Given the description of an element on the screen output the (x, y) to click on. 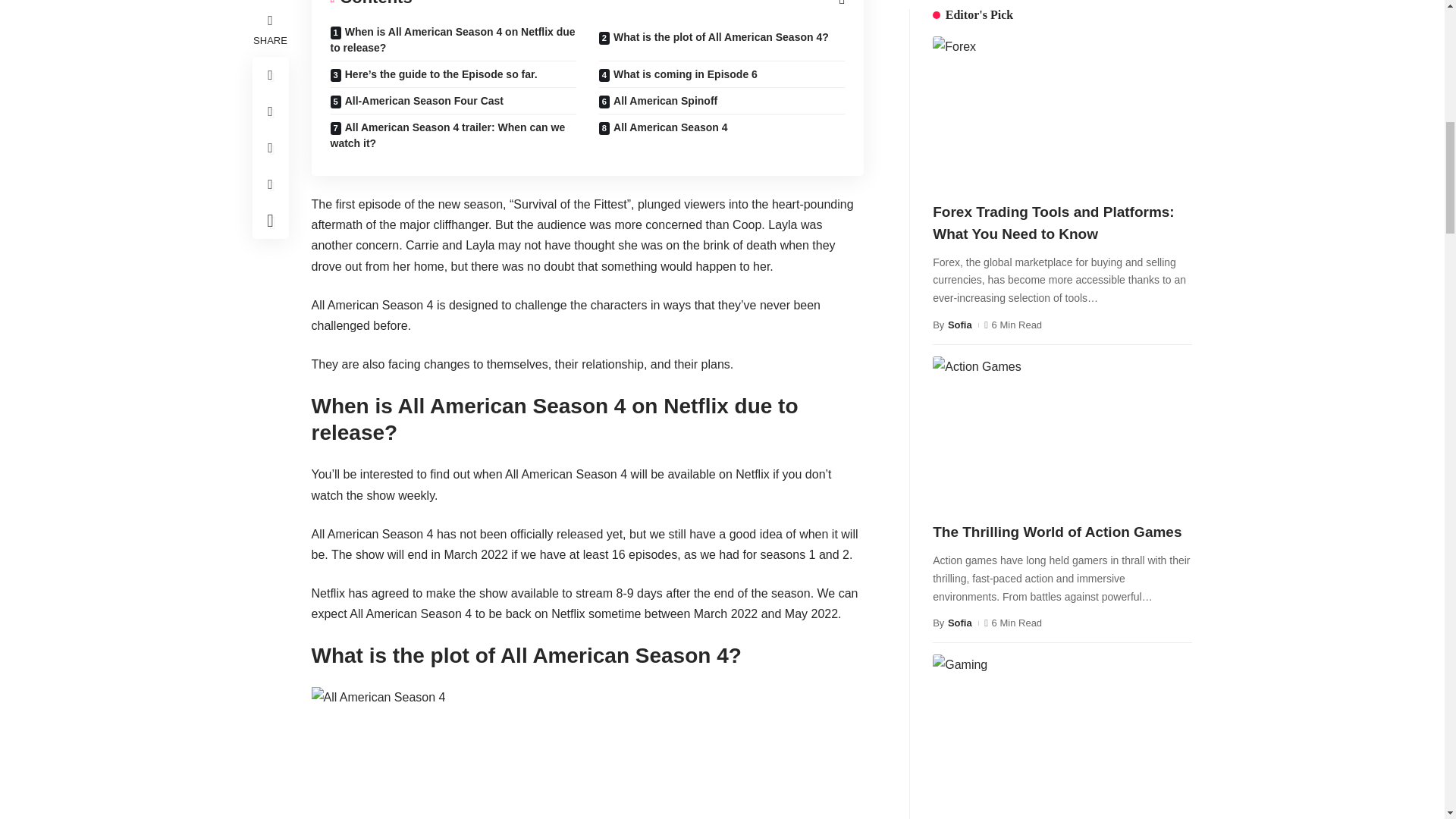
Forex Trading Tools and Platforms: What You Need to Know (989, 525)
The Evolution of Gaming: Exploring New Frontiers (1062, 255)
The Thrilling World of Action Games (1062, 18)
How Mobile Games Are Revolutionizing Gaming Culture (1134, 783)
The Thrilling World of Action Games (1134, 525)
The Evolution of Gaming: Exploring New Frontiers (989, 783)
